Given the description of an element on the screen output the (x, y) to click on. 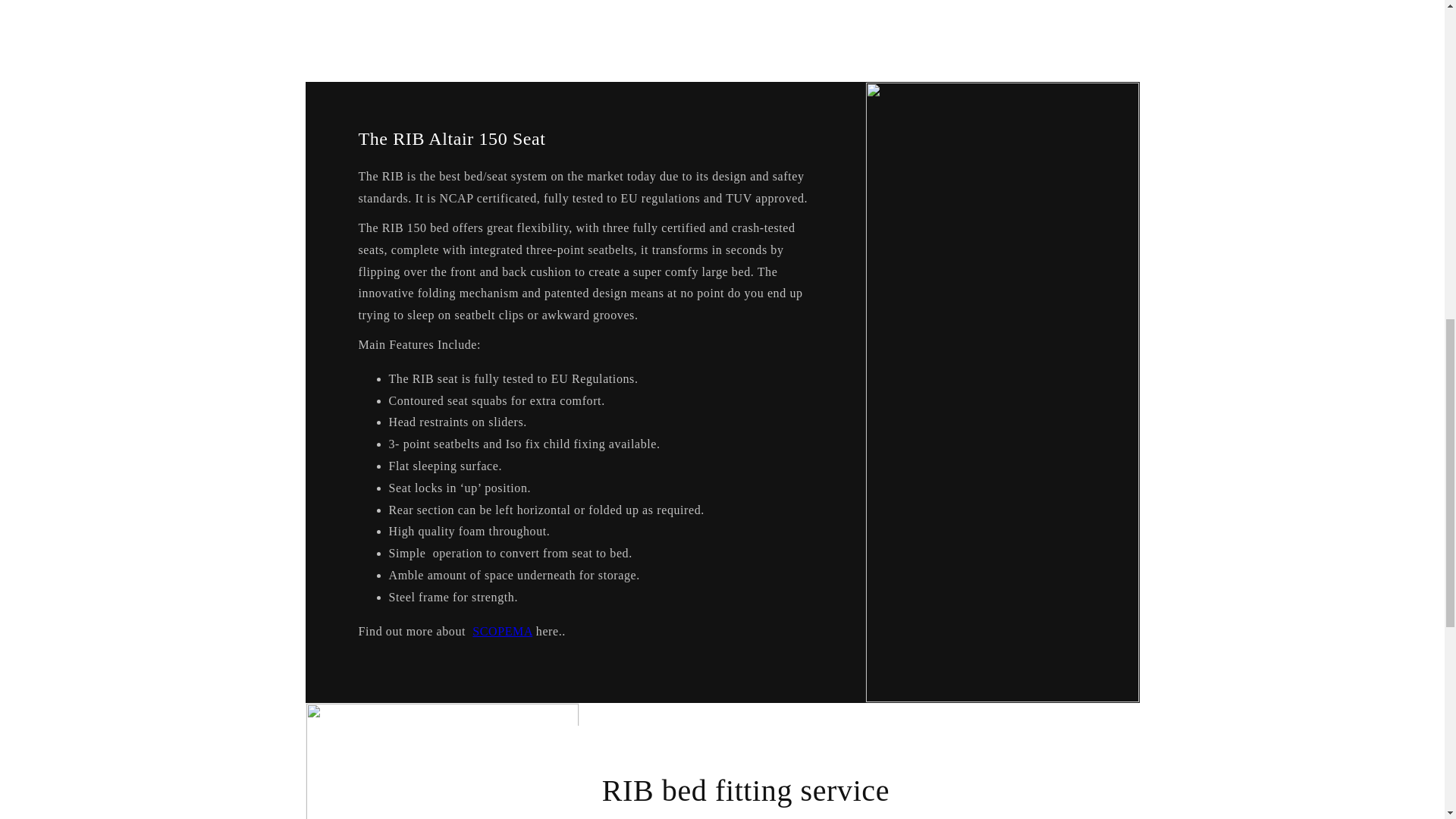
SCOPEMA (501, 631)
